Given the description of an element on the screen output the (x, y) to click on. 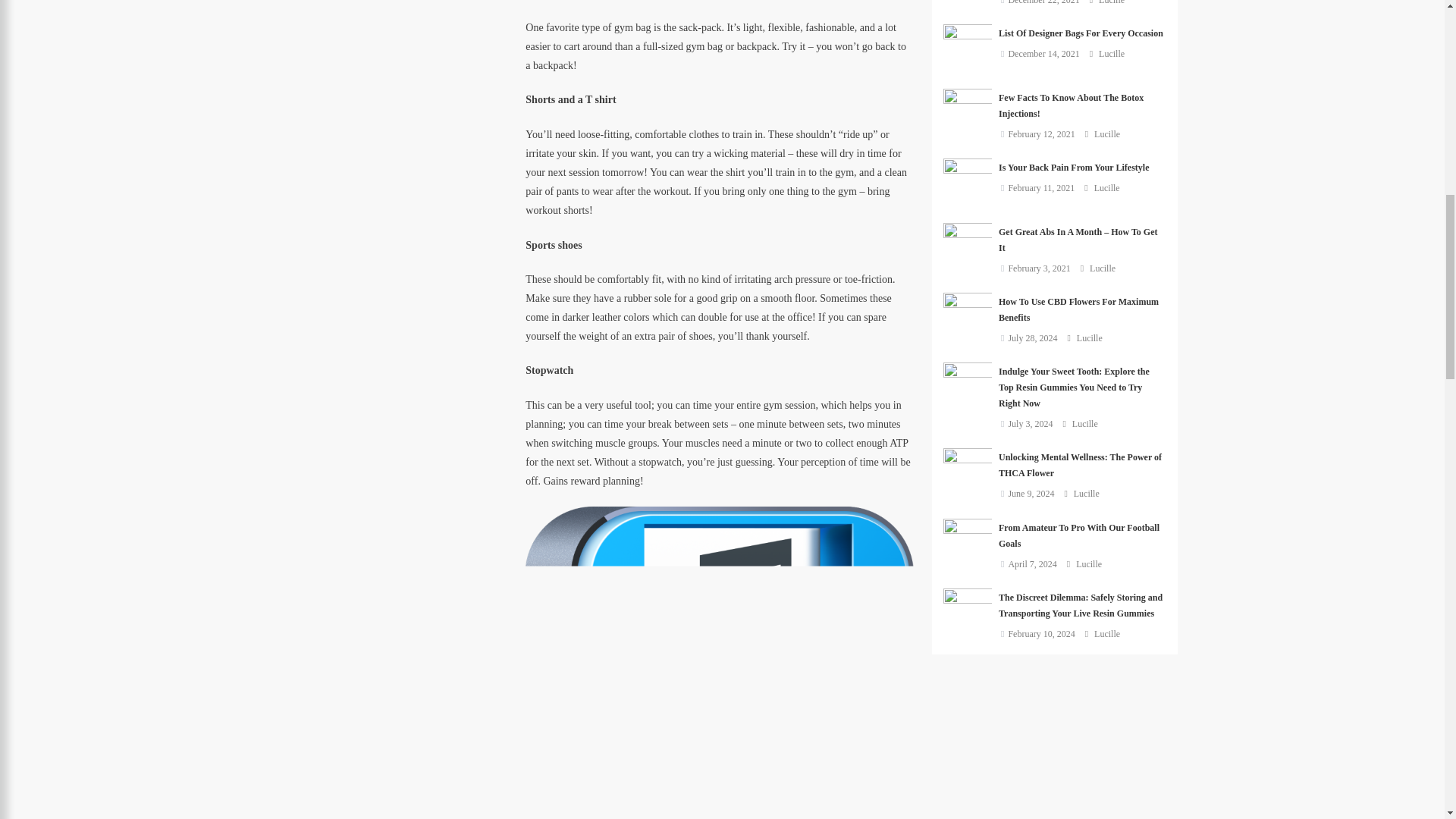
Two entrepreneurs have teamed up to build a medical spa (967, 2)
December 22, 2021 (1042, 2)
From Amateur To Pro With Our Football Goals (967, 543)
How To Use CBD Flowers For Maximum Benefits (967, 317)
Unlocking Mental Wellness: The Power of THCA Flower (967, 472)
List Of Designer Bags For Every Occasion (967, 48)
Is Your Back Pain From Your Lifestyle (967, 183)
Few Facts To Know About The Botox Injections! (967, 113)
